Given the description of an element on the screen output the (x, y) to click on. 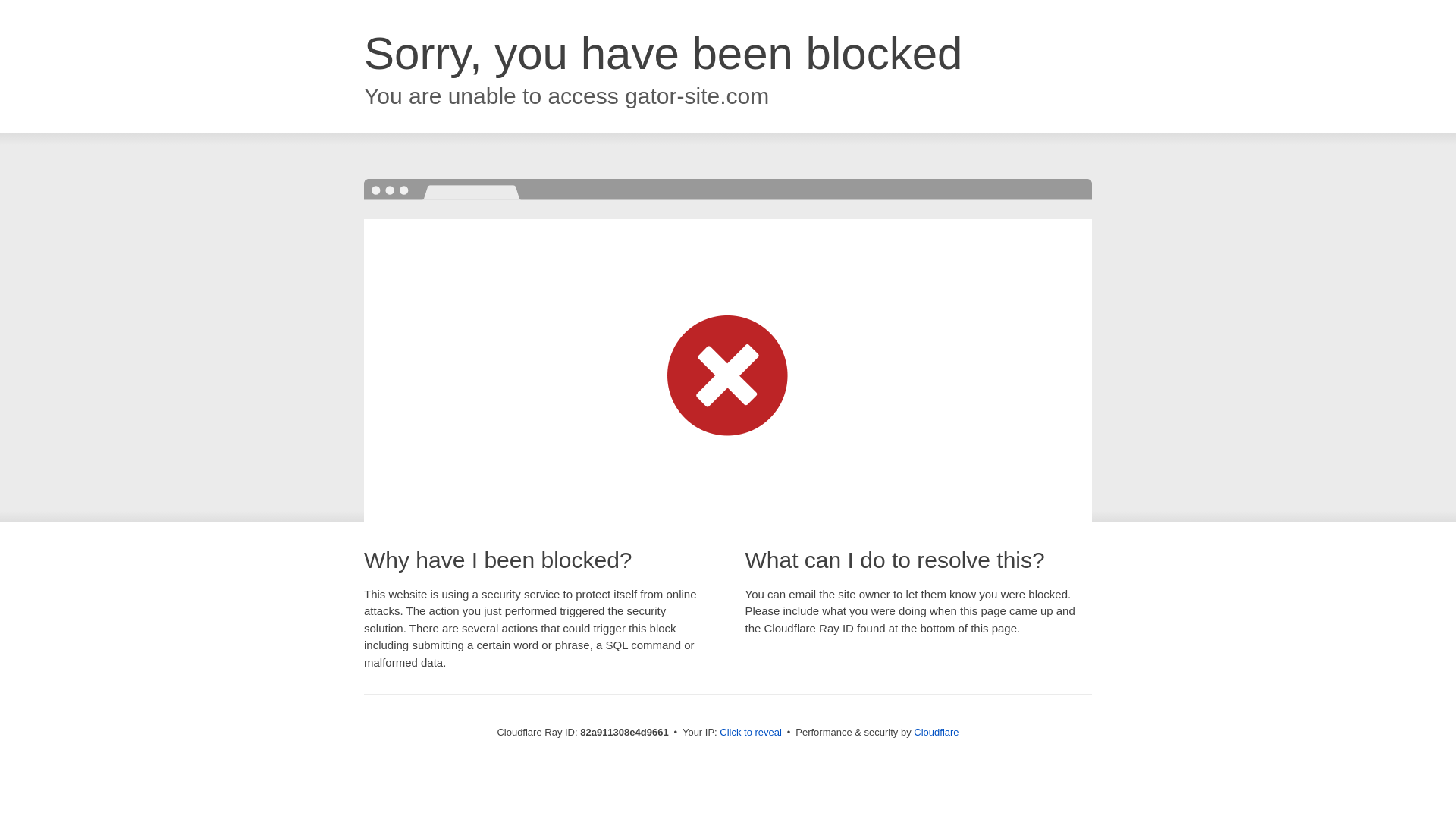
Click to reveal Element type: text (750, 732)
Cloudflare Element type: text (935, 731)
